Given the description of an element on the screen output the (x, y) to click on. 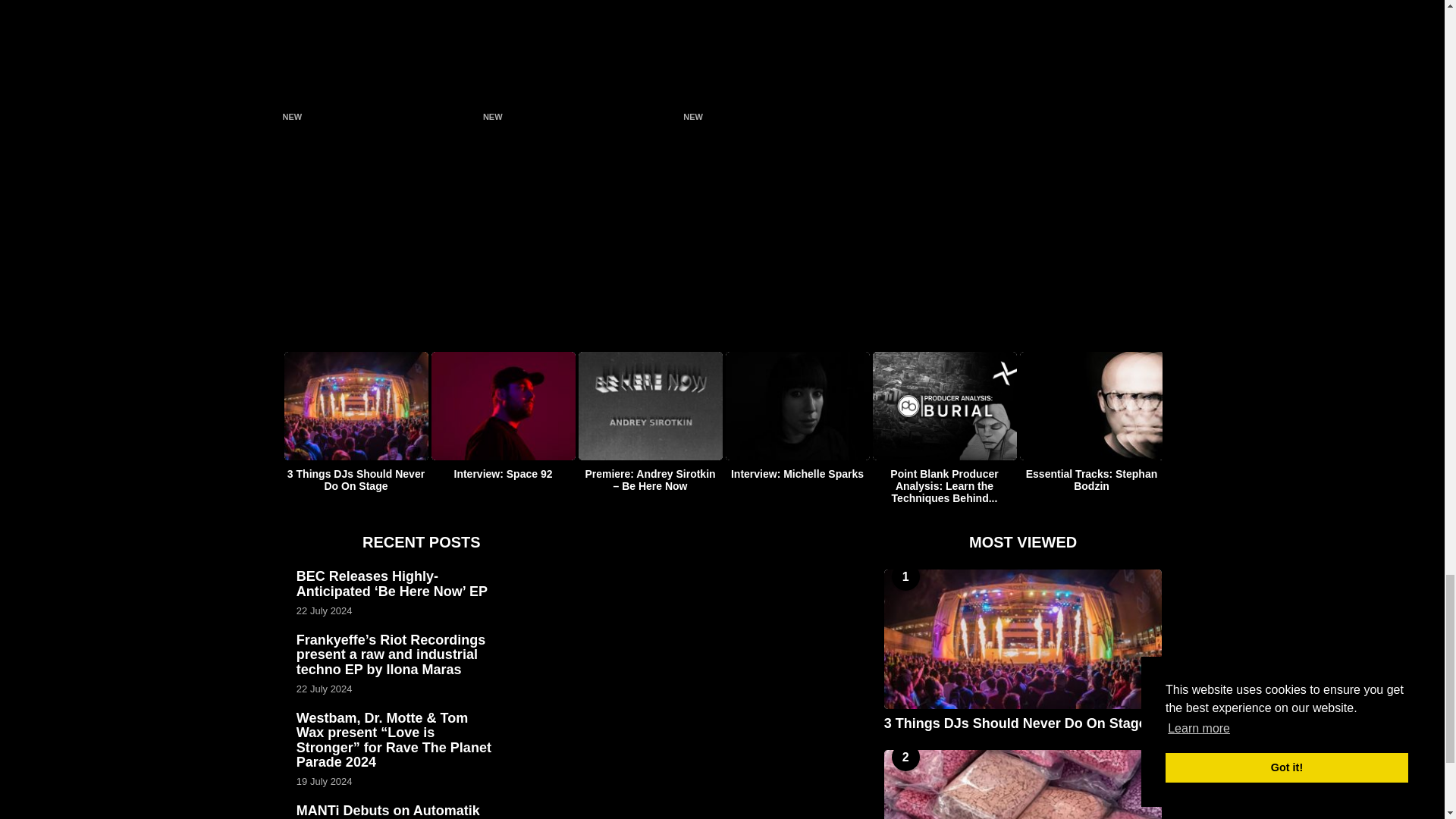
3 Things DJs Should Never Do On Stage (1022, 638)
